Given the description of an element on the screen output the (x, y) to click on. 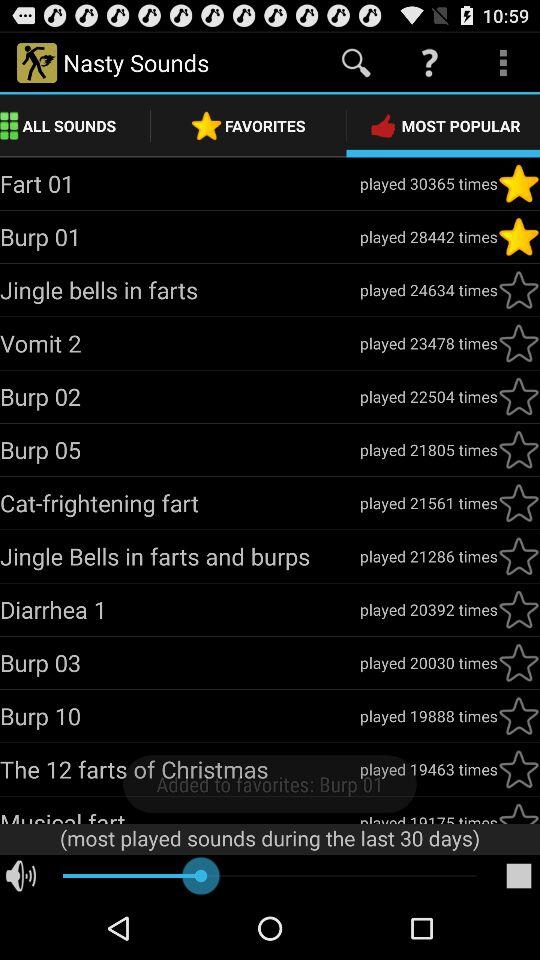
favorite (519, 663)
